Given the description of an element on the screen output the (x, y) to click on. 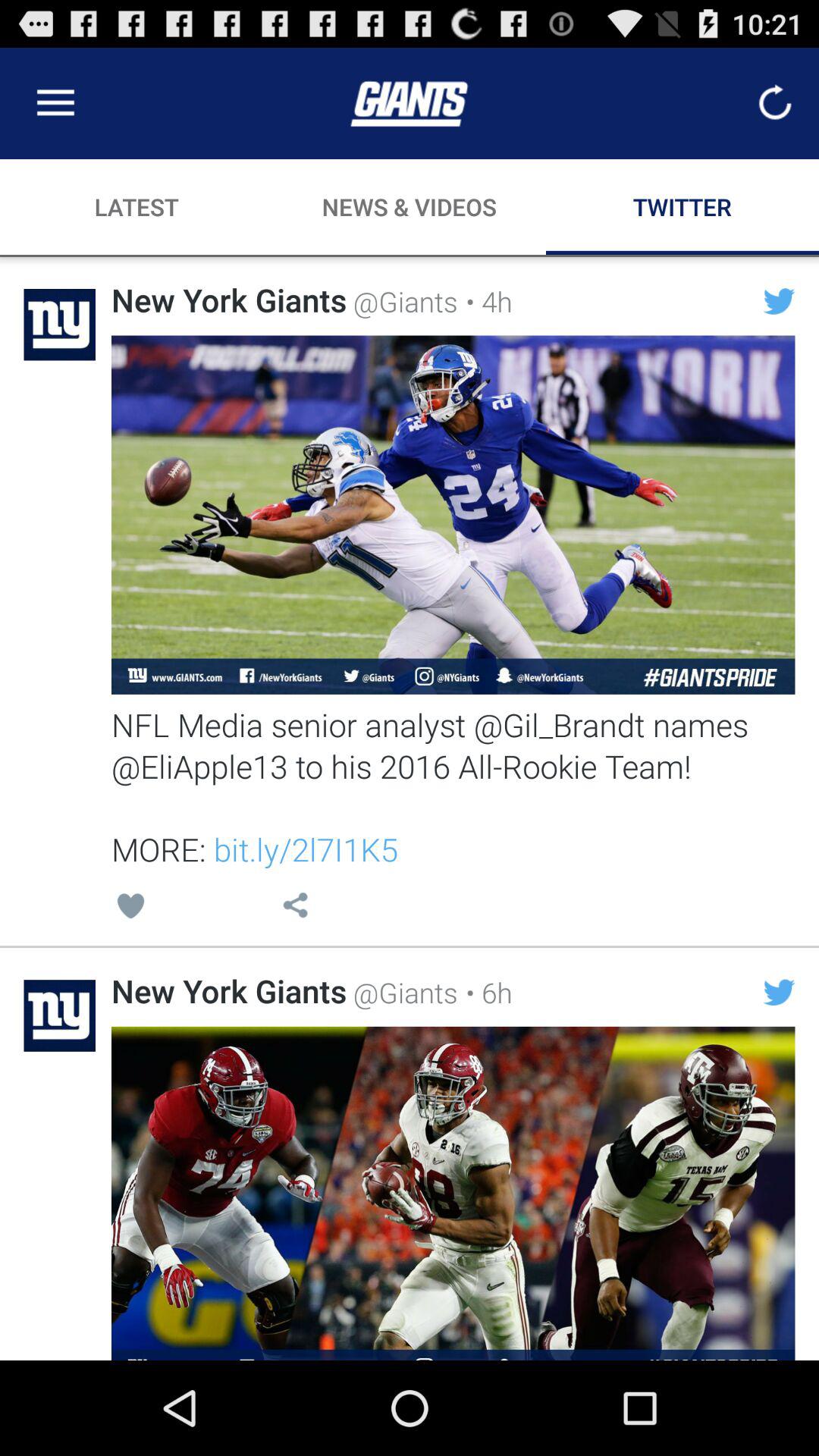
launch item above new york giants item (131, 907)
